Given the description of an element on the screen output the (x, y) to click on. 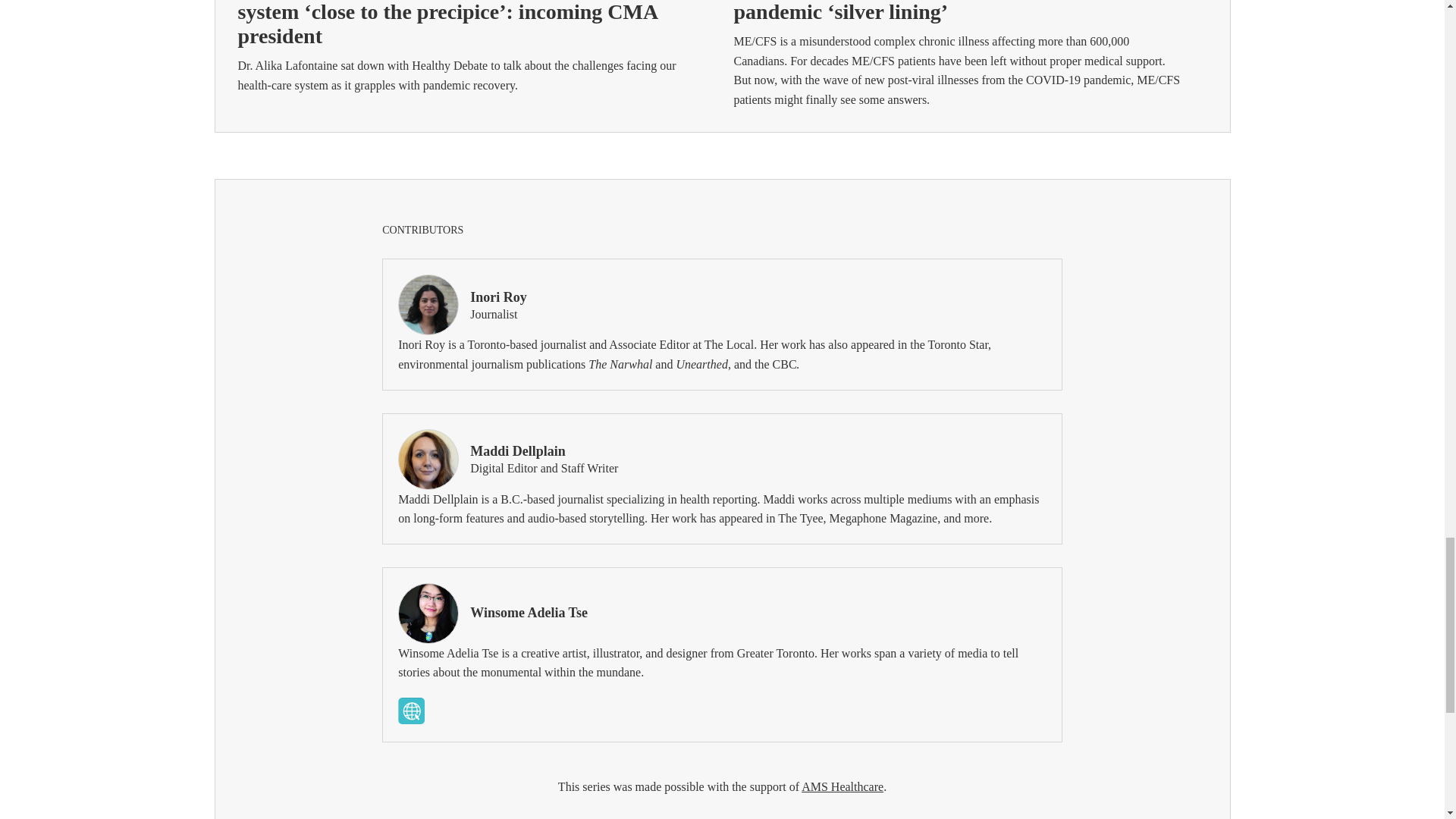
AMS Healthcare (842, 786)
